Given the description of an element on the screen output the (x, y) to click on. 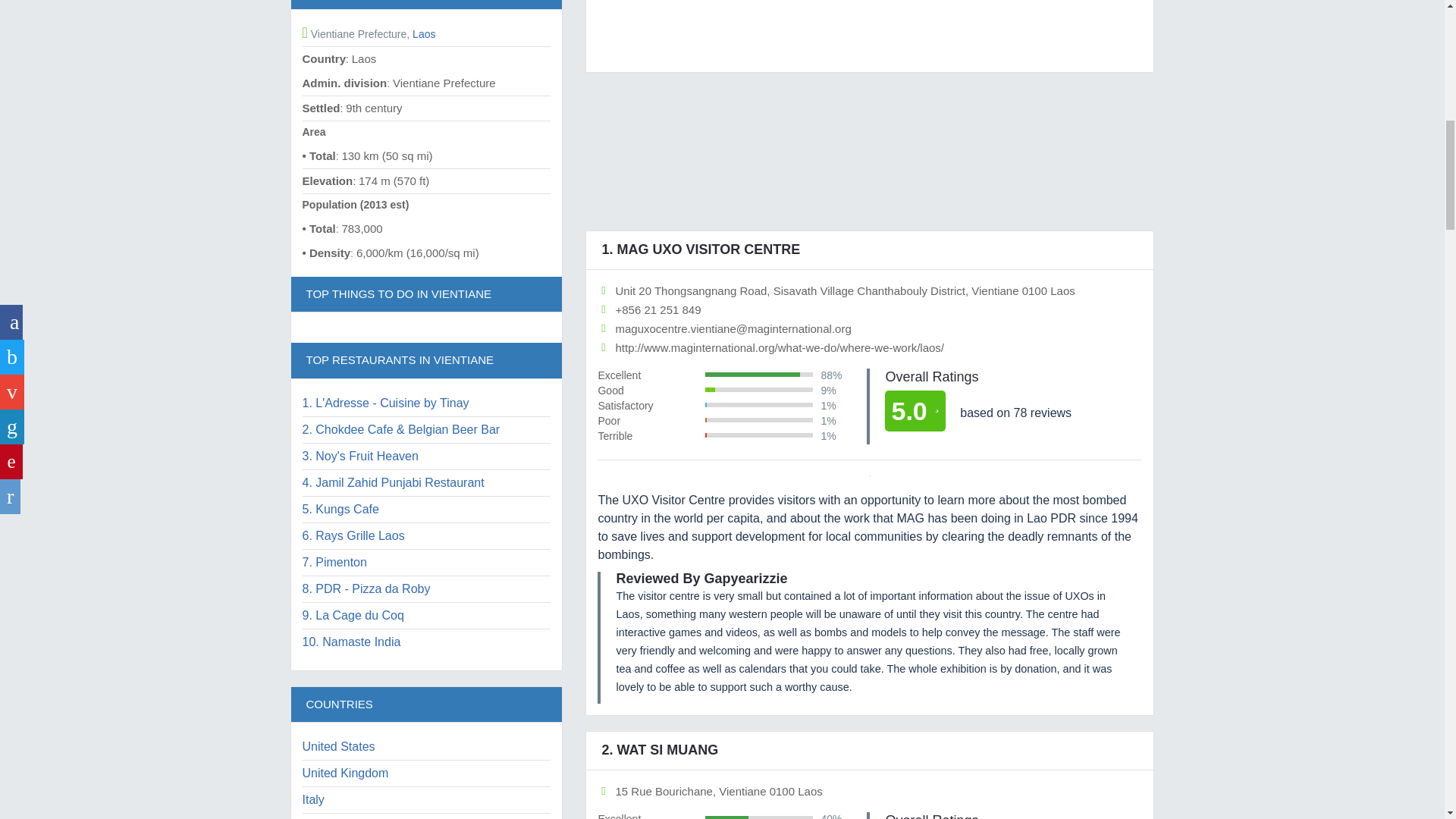
PDR - Pizza da Roby (365, 588)
La Cage du Coq (352, 615)
7. Pimenton (333, 562)
United States (337, 746)
4. Jamil Zahid Punjabi Restaurant (392, 481)
Noy's Fruit Heaven (359, 455)
United Kingdom (344, 772)
10. Namaste India (350, 641)
6. Rays Grille Laos (352, 535)
Kungs Cafe (339, 508)
